Given the description of an element on the screen output the (x, y) to click on. 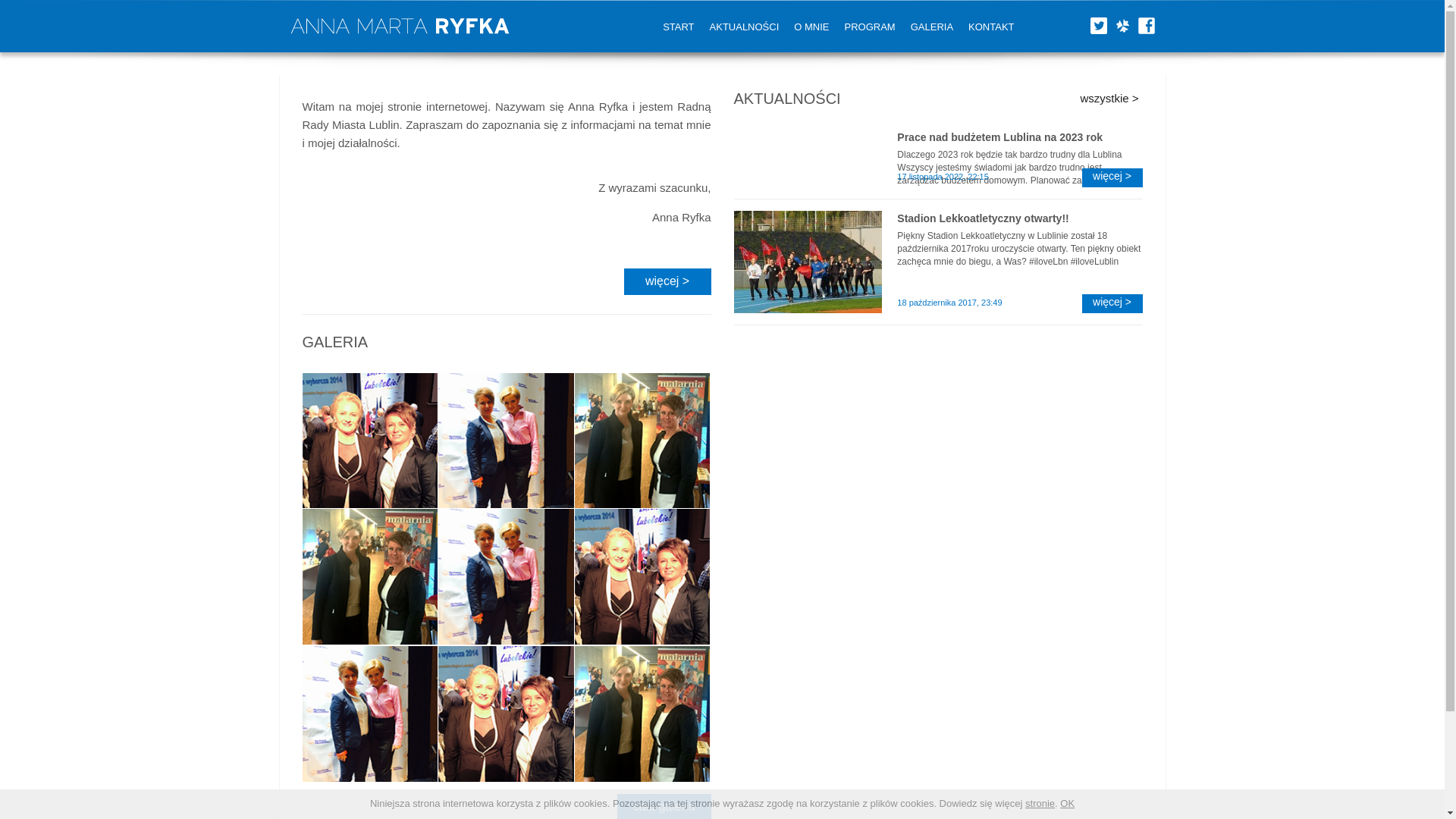
O MNIE (810, 27)
OK (1066, 803)
Stadion Lekkoatletyczny otwarty!! (1018, 218)
KONTAKT (991, 27)
GALERIA (931, 27)
PROGRAM (869, 27)
stronie (1039, 803)
